Given the description of an element on the screen output the (x, y) to click on. 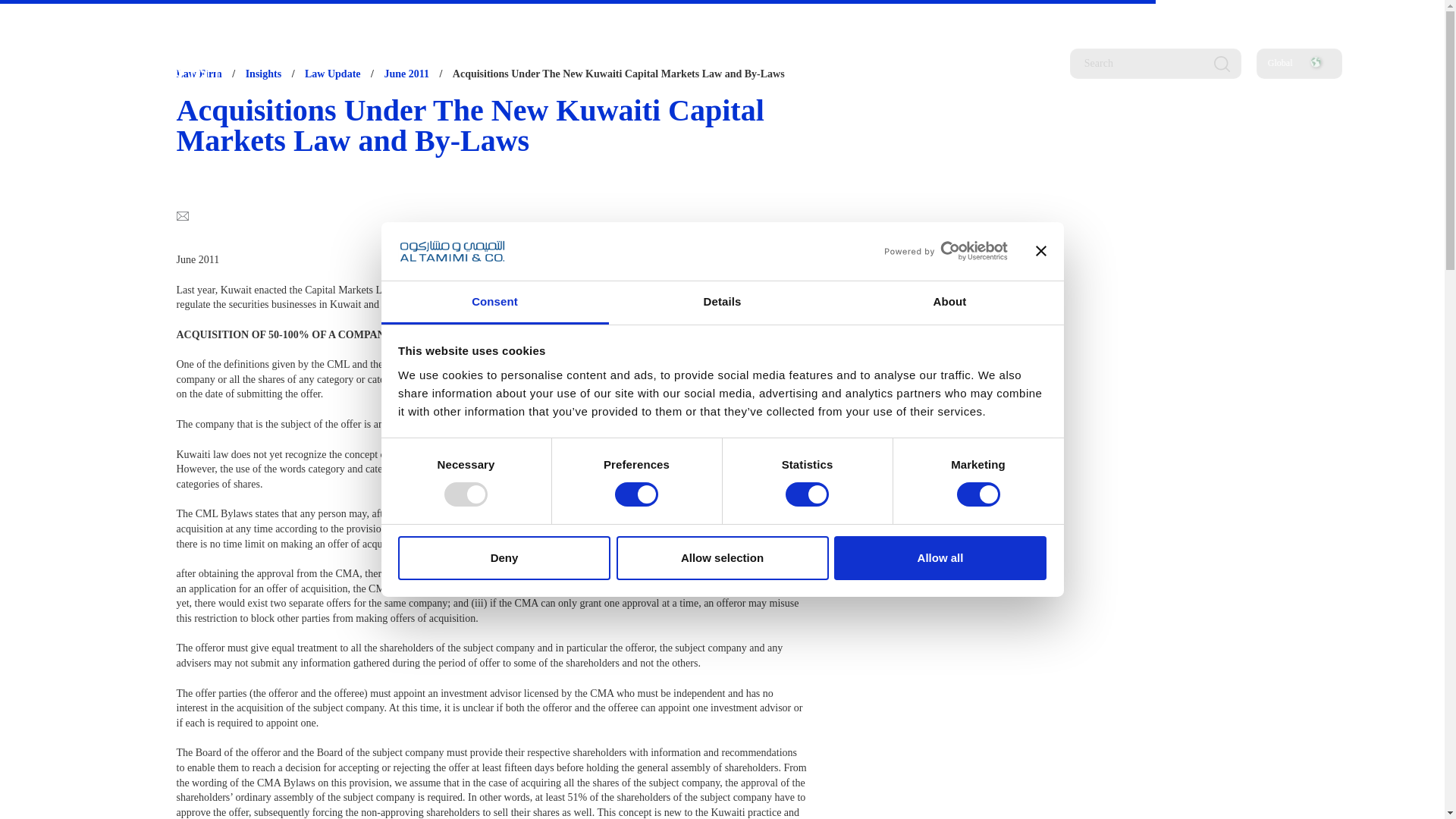
Consent (494, 302)
Law Firm (198, 73)
About (948, 302)
Details (721, 302)
